Given the description of an element on the screen output the (x, y) to click on. 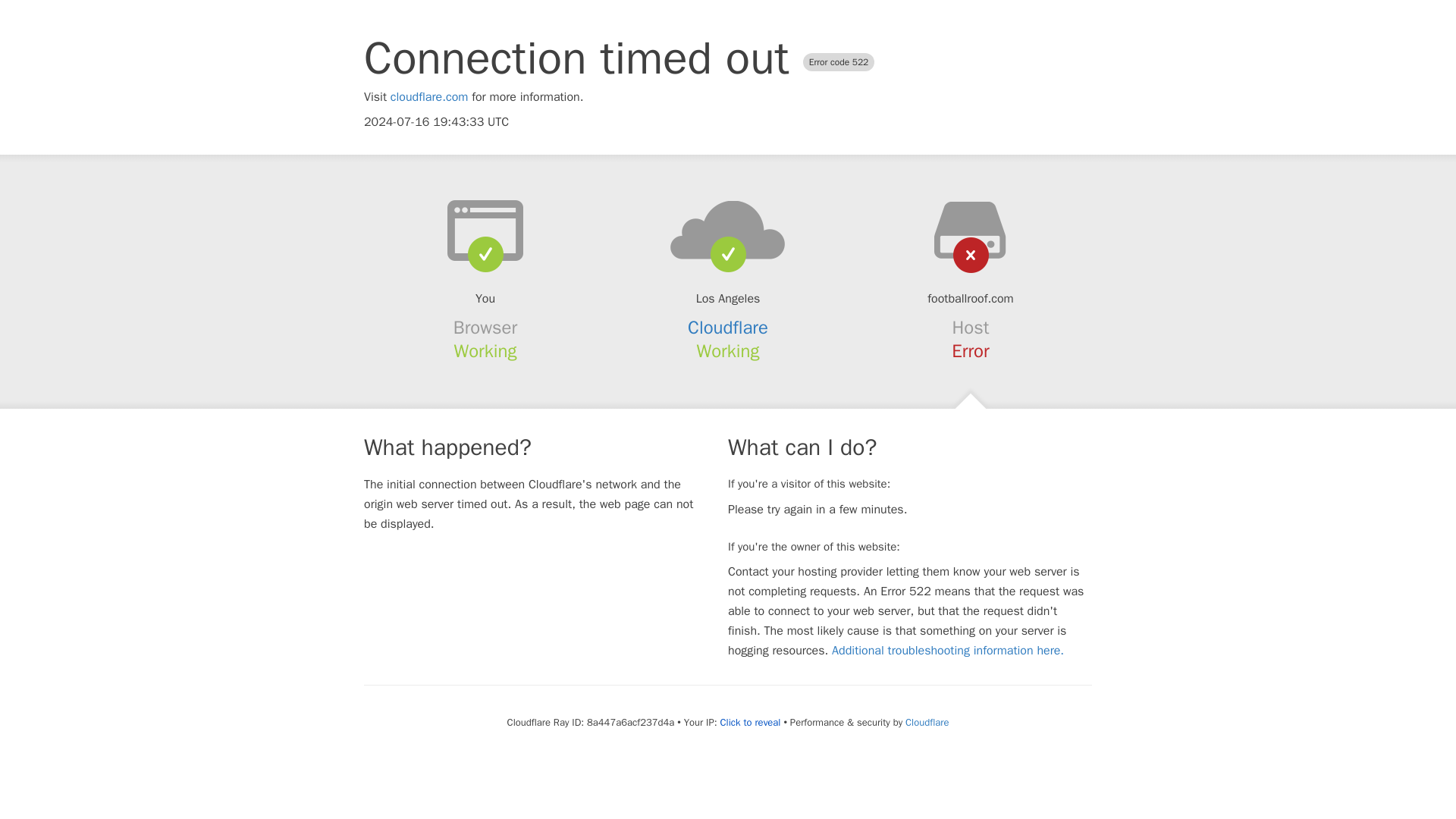
Cloudflare (927, 721)
Additional troubleshooting information here. (947, 650)
cloudflare.com (429, 96)
Click to reveal (750, 722)
Cloudflare (727, 327)
